Given the description of an element on the screen output the (x, y) to click on. 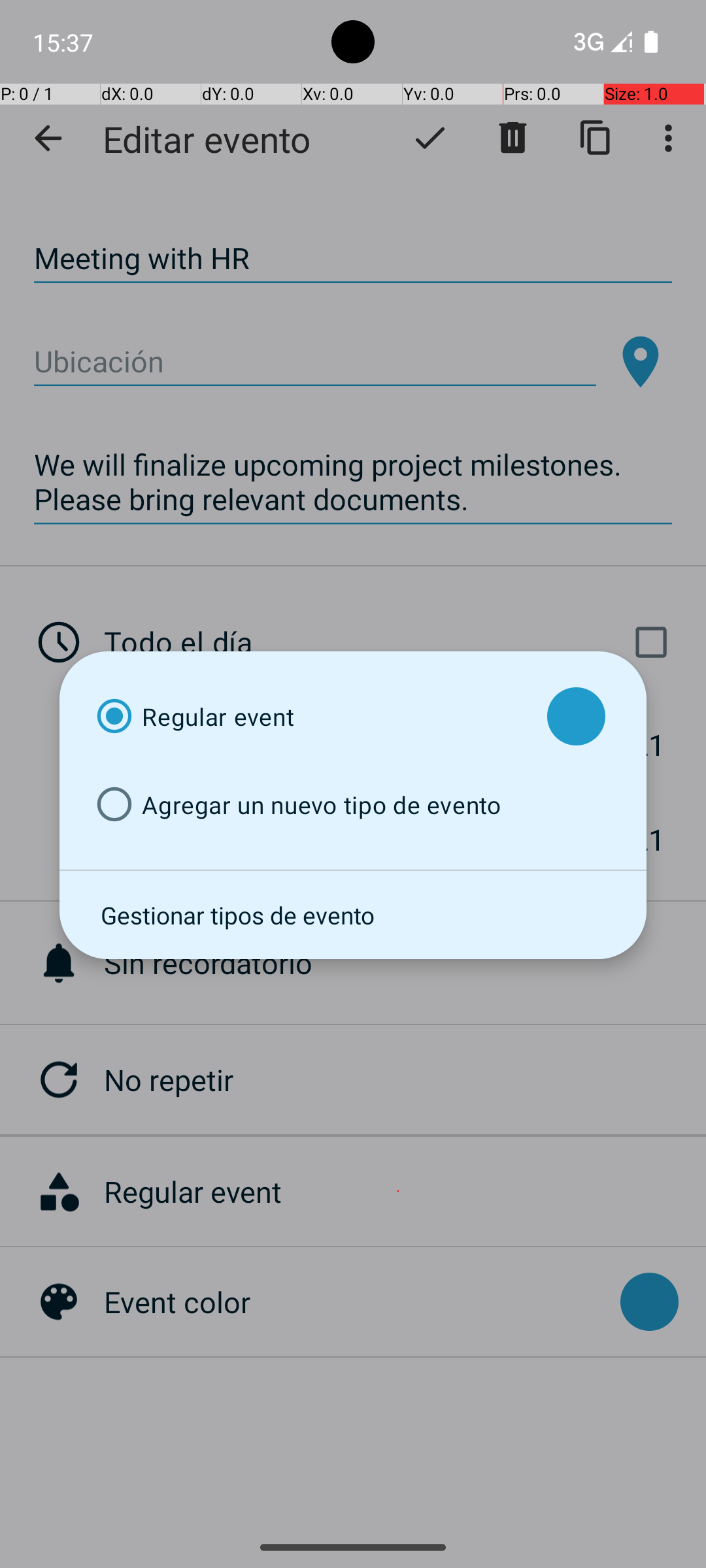
Agregar un nuevo tipo de evento Element type: android.widget.RadioButton (309, 804)
15:37 Element type: android.widget.TextView (64, 41)
